Given the description of an element on the screen output the (x, y) to click on. 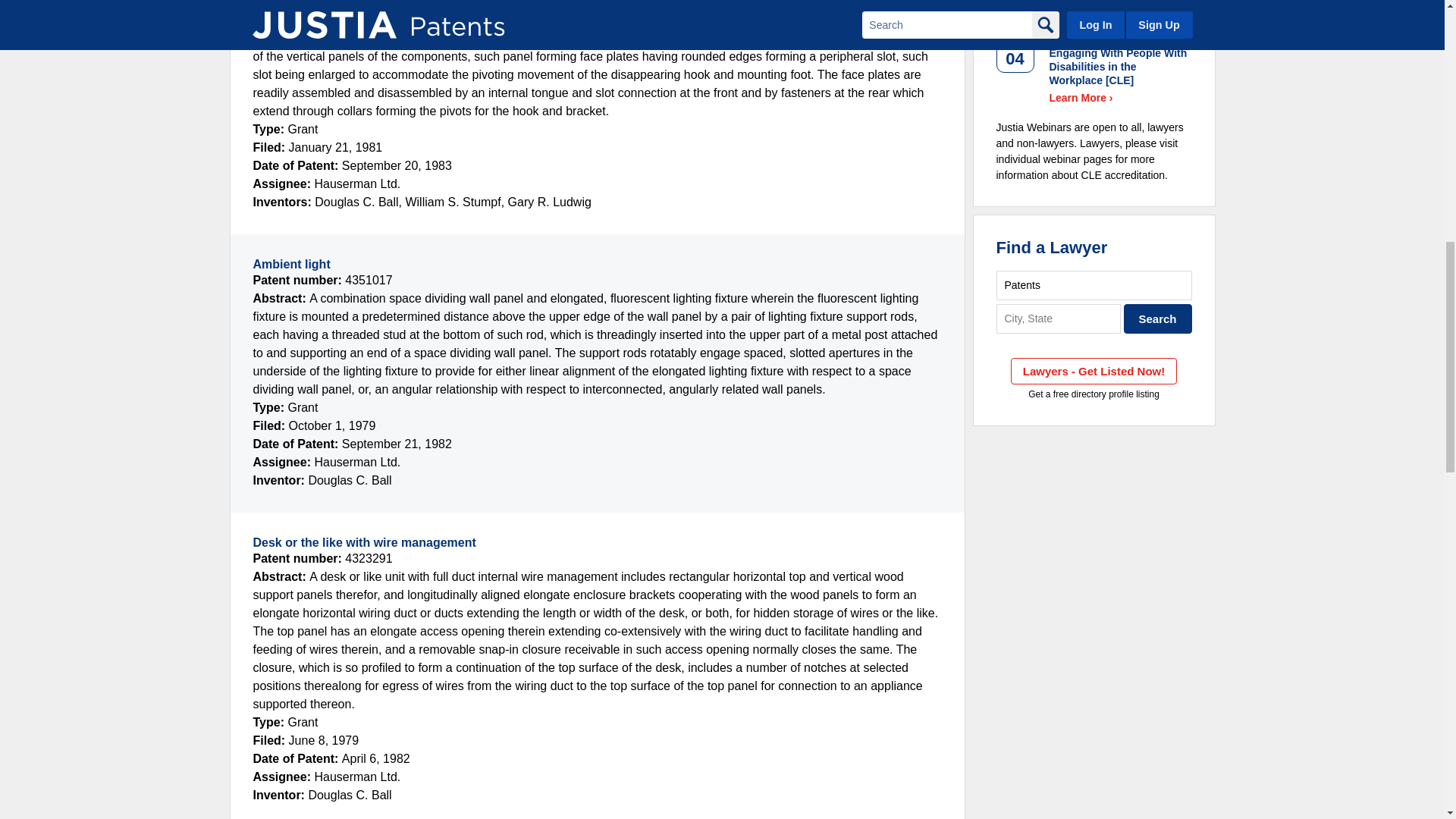
Patents (1093, 285)
Search (1158, 318)
City, State (1058, 318)
Legal Issue or Lawyer Name (1093, 285)
Desk or the like with wire management (364, 542)
Search (1158, 318)
Ambient light (291, 264)
